Given the description of an element on the screen output the (x, y) to click on. 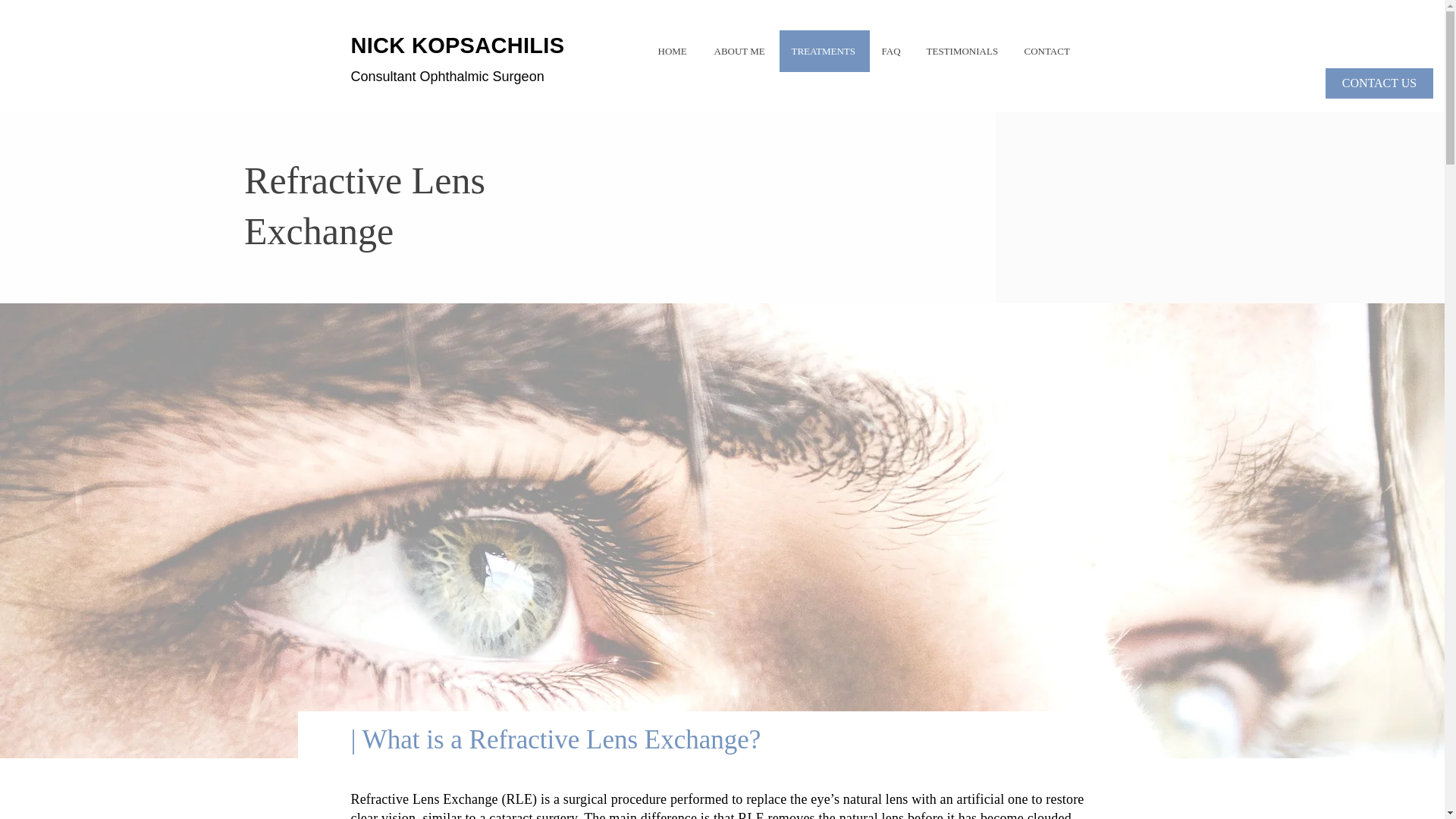
TESTIMONIALS (962, 51)
HOME (673, 51)
ABOUT ME (739, 51)
NICK KOPSACHILIS (457, 45)
TREATMENTS (823, 51)
CONTACT (1047, 51)
CONTACT US (1378, 82)
FAQ (891, 51)
